Given the description of an element on the screen output the (x, y) to click on. 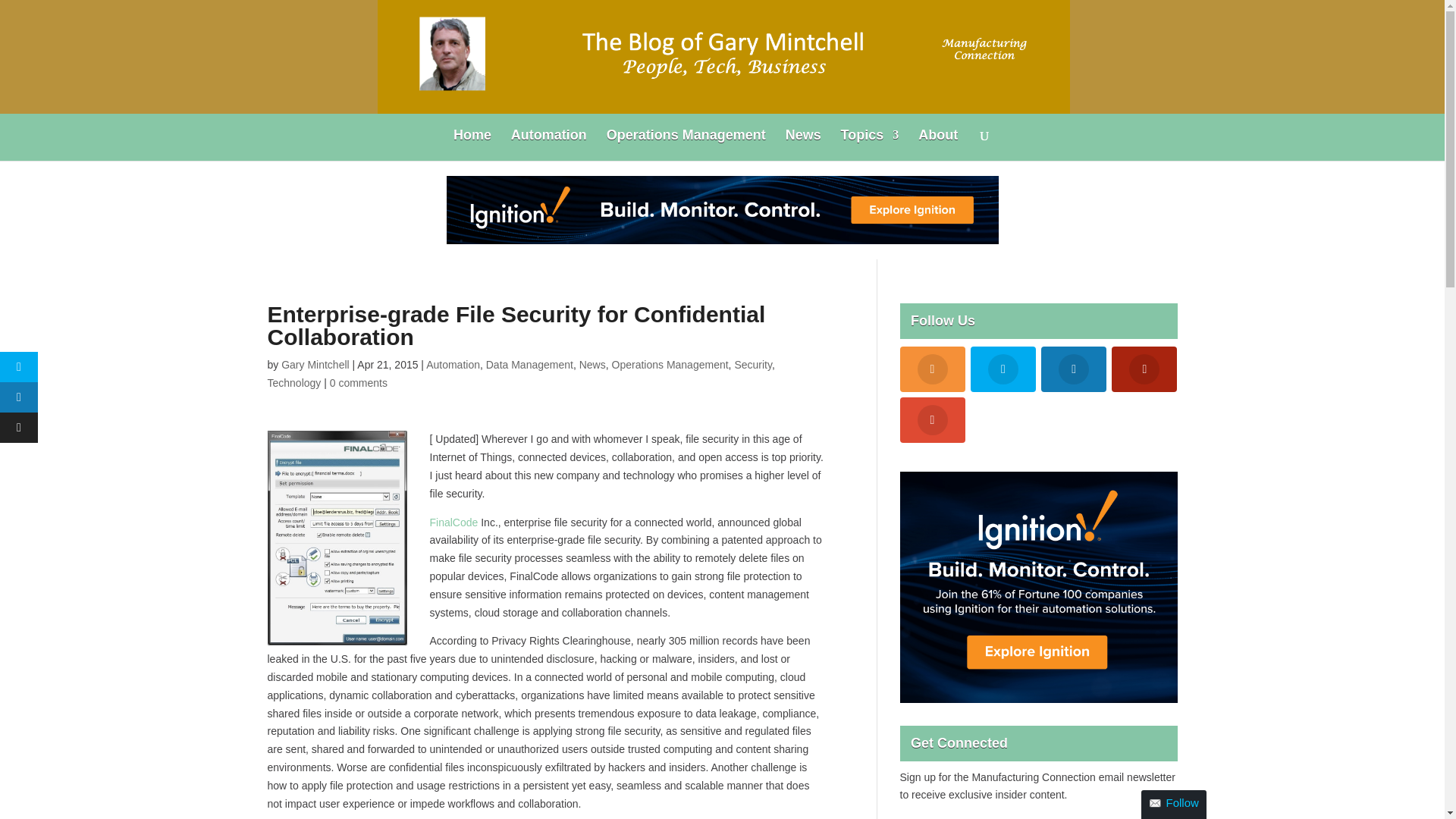
Operations Management (670, 364)
Posts by Gary Mintchell (315, 364)
News (803, 144)
0 comments (358, 382)
Home (472, 144)
About (938, 144)
Data Management (529, 364)
News (592, 364)
Automation (548, 144)
Security (752, 364)
Automation (453, 364)
Operations Management (686, 144)
Technology (293, 382)
Topics (870, 144)
FinalCode (454, 522)
